Given the description of an element on the screen output the (x, y) to click on. 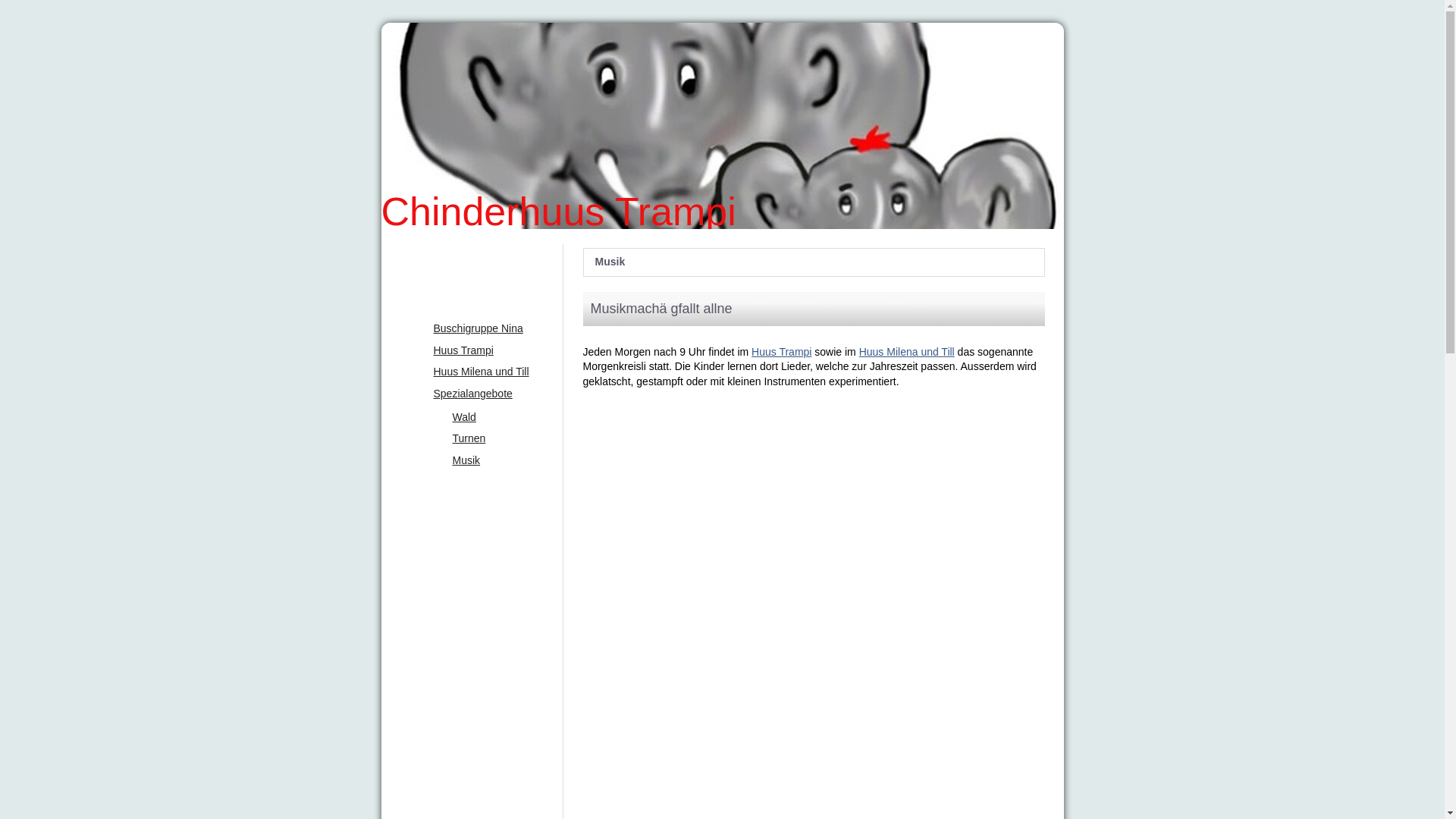
Aktuell Element type: text (471, 259)
Musik Element type: text (487, 460)
Huus Trampi Element type: text (781, 351)
Informationen Element type: text (471, 492)
Kontakt Element type: text (471, 605)
Wald Element type: text (487, 417)
Trampifreunde Element type: text (471, 568)
Huus Trampi Element type: text (479, 350)
Huus Milena und Till Element type: text (479, 372)
Spezialangebote Element type: text (479, 394)
Angebot Element type: text (471, 297)
Chinderhuus Trampi Element type: text (721, 225)
Buschigruppe Nina Element type: text (479, 328)
Online Shop Element type: text (471, 643)
Turnen Element type: text (487, 438)
Huus Milena und Till Element type: text (906, 351)
Interner Bereich Element type: text (471, 680)
